Given the description of an element on the screen output the (x, y) to click on. 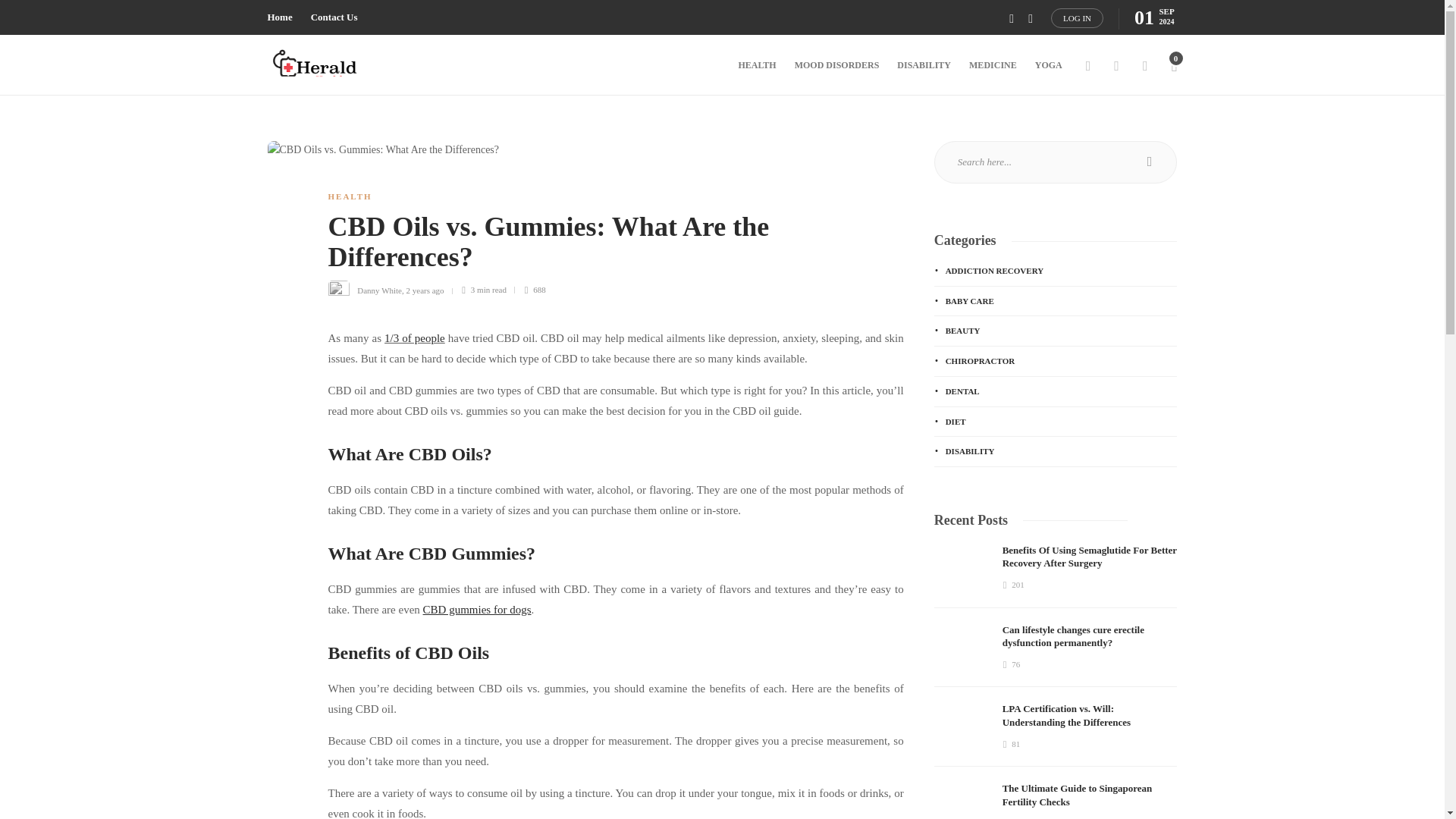
CBD Oils vs. Gummies: What Are the Differences?  (603, 246)
Contact Us (334, 17)
Danny White (378, 289)
HEALTH (349, 195)
CBD gummies for dogs (477, 609)
MOOD DISORDERS (836, 65)
DISABILITY (923, 65)
LOG IN (1077, 17)
2 years ago (425, 289)
Search text (1055, 161)
